Given the description of an element on the screen output the (x, y) to click on. 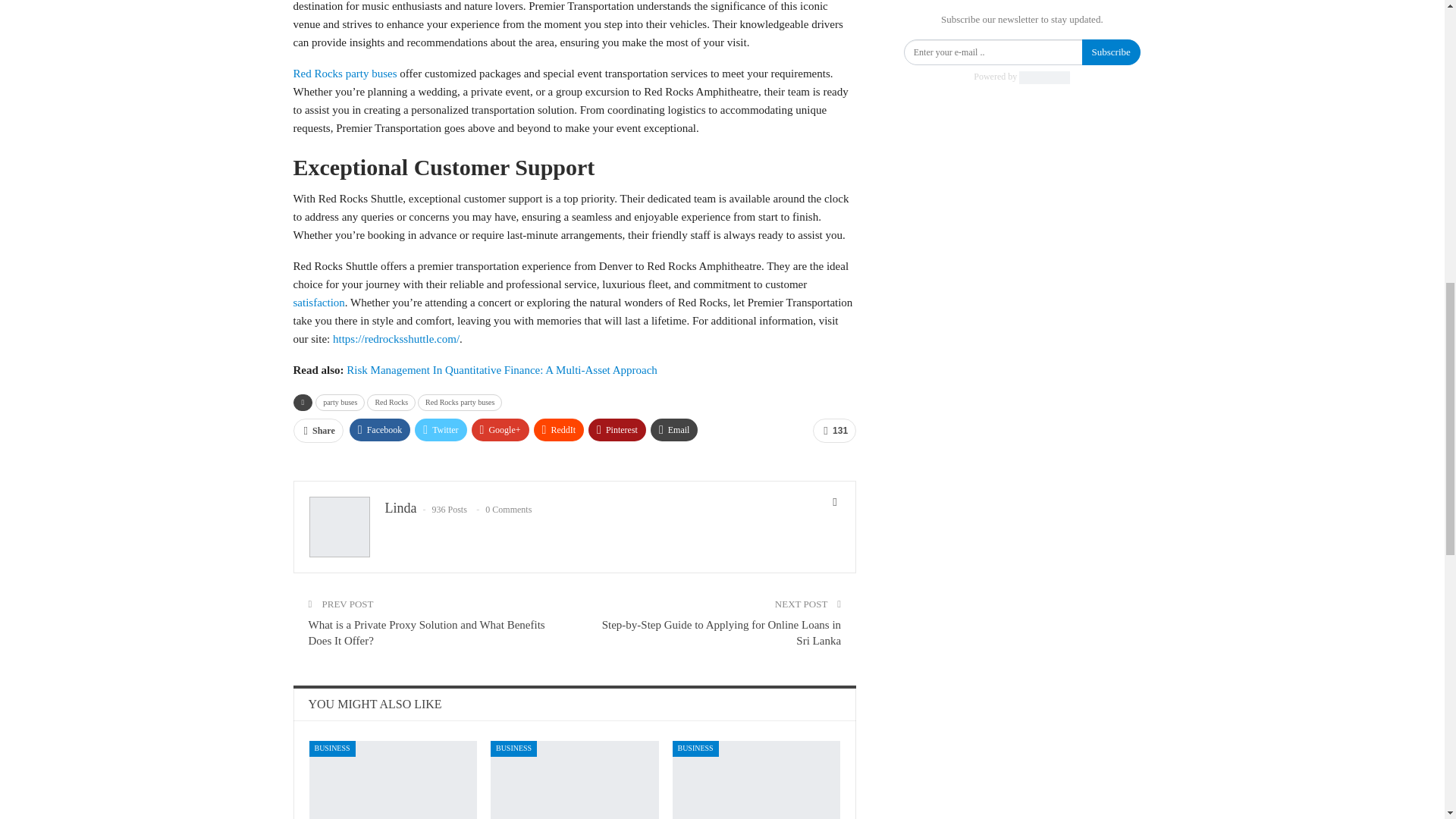
The Power of Influencer Partnerships in PR (392, 780)
How to Find an Online Business for Sale (756, 780)
Strategies for Resolving Partnership Disputes Amicably (574, 780)
